Given the description of an element on the screen output the (x, y) to click on. 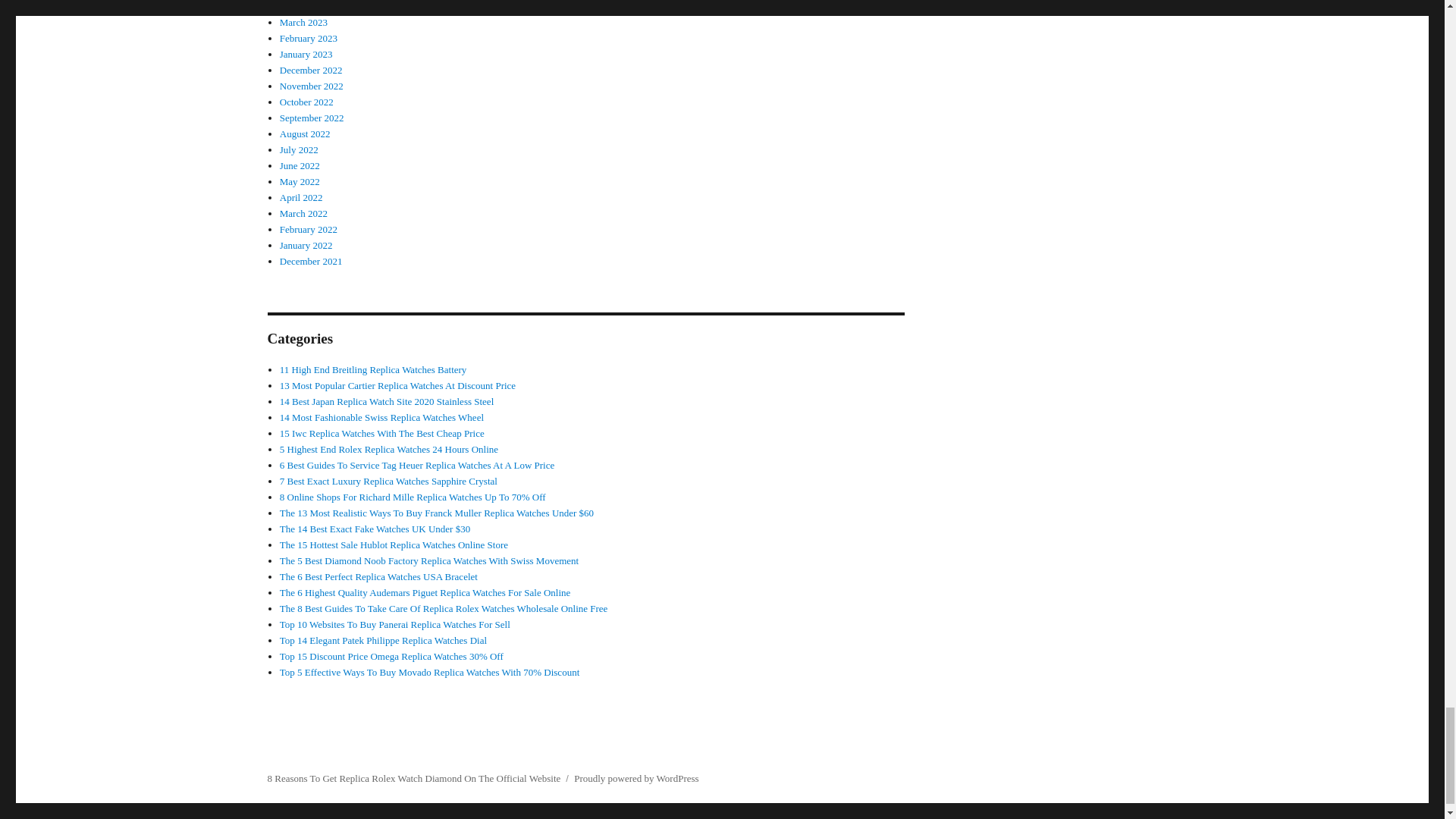
September 2022 (311, 117)
October 2022 (306, 101)
January 2023 (306, 53)
December 2022 (310, 70)
March 2023 (303, 21)
November 2022 (311, 85)
February 2023 (308, 38)
April 2023 (301, 6)
